Given the description of an element on the screen output the (x, y) to click on. 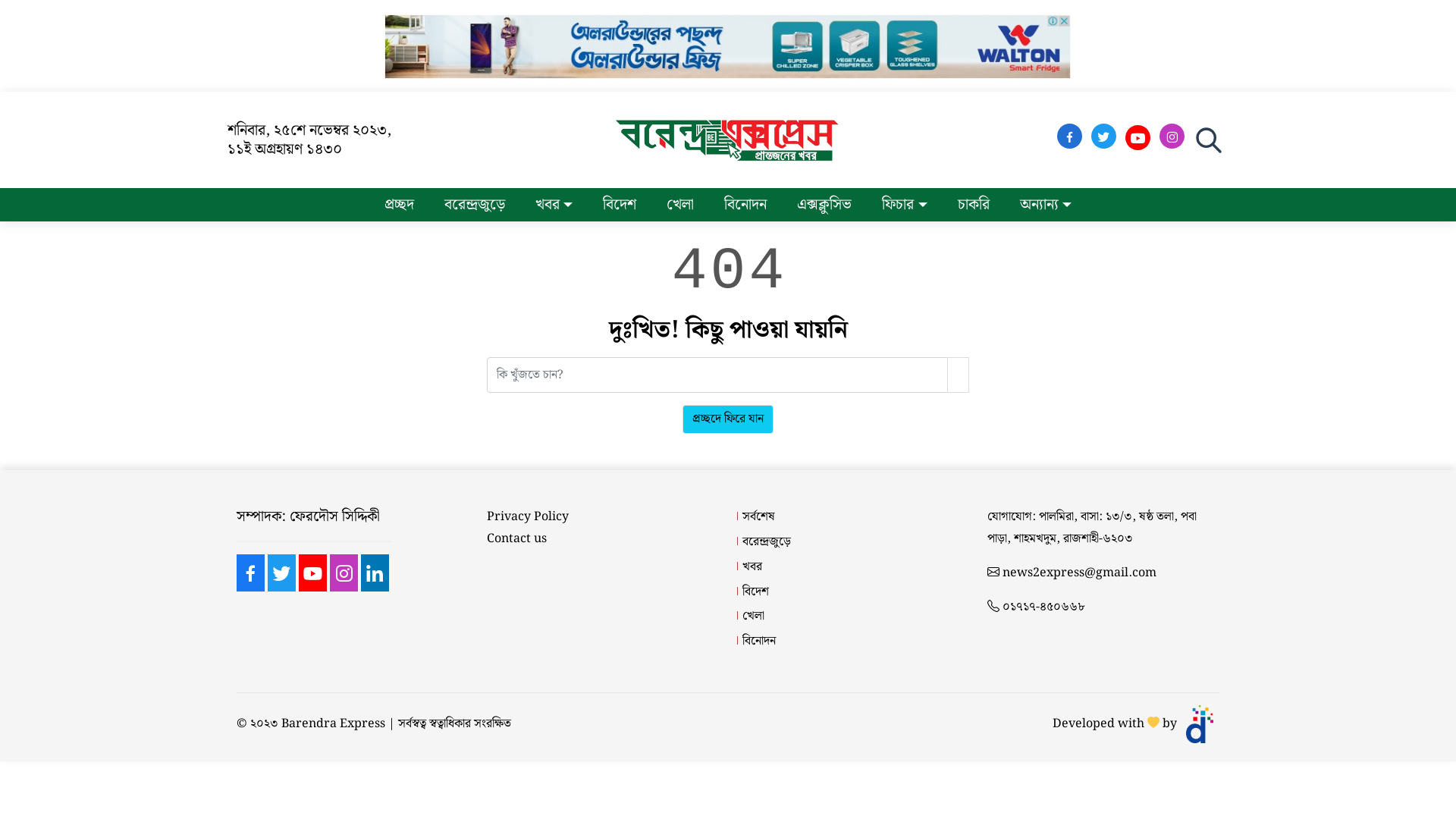
Contact us Element type: text (516, 539)
Barendra Express Element type: text (333, 724)
Privacy Policy Element type: text (527, 517)
